Given the description of an element on the screen output the (x, y) to click on. 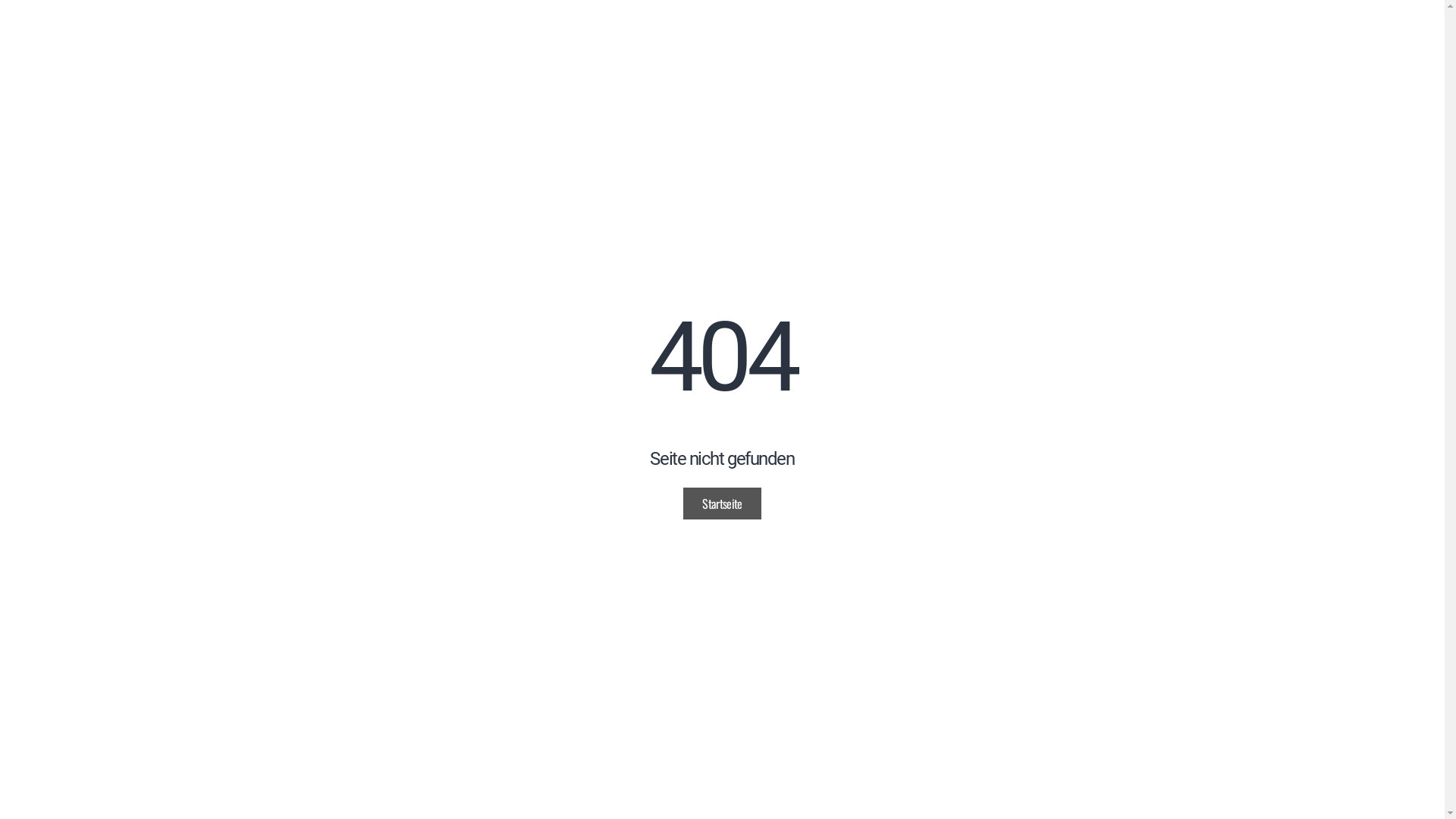
Startseite Element type: text (722, 503)
